Given the description of an element on the screen output the (x, y) to click on. 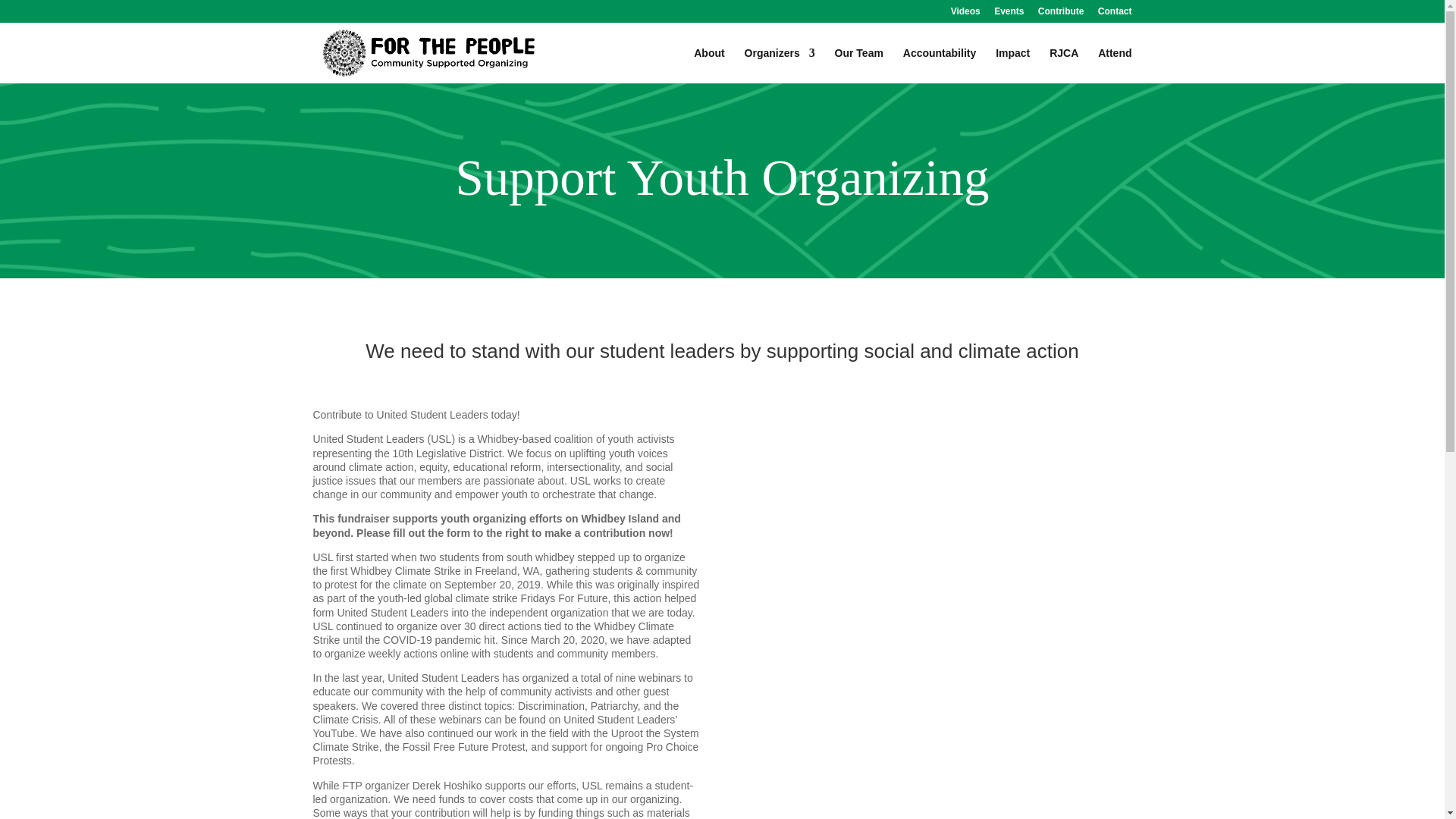
Contribute (1061, 14)
Impact (1012, 65)
Contact (1114, 14)
Events (1008, 14)
Accountability (938, 65)
Videos (964, 14)
Attend (1114, 65)
Organizers (779, 65)
Our Team (858, 65)
